Given the description of an element on the screen output the (x, y) to click on. 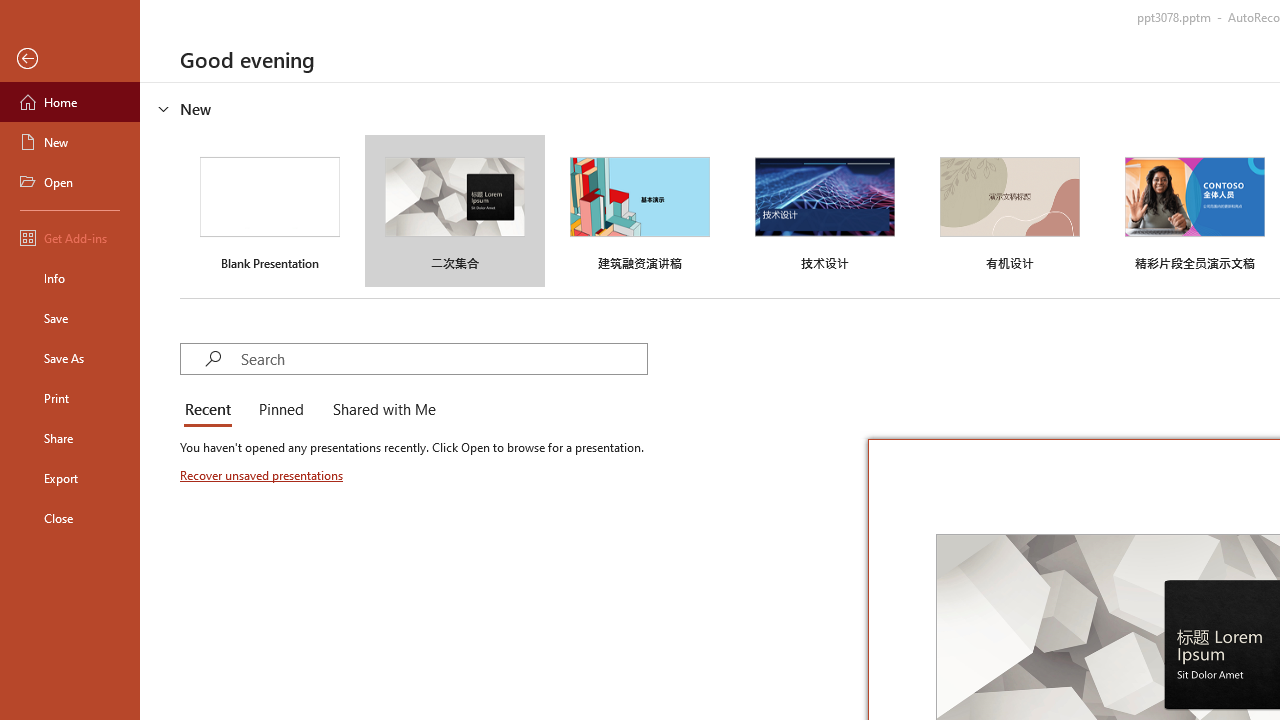
Get Add-ins (69, 237)
Blank Presentation (269, 211)
New (69, 141)
Back (69, 59)
Recover unsaved presentations (263, 475)
Save As (69, 357)
